Given the description of an element on the screen output the (x, y) to click on. 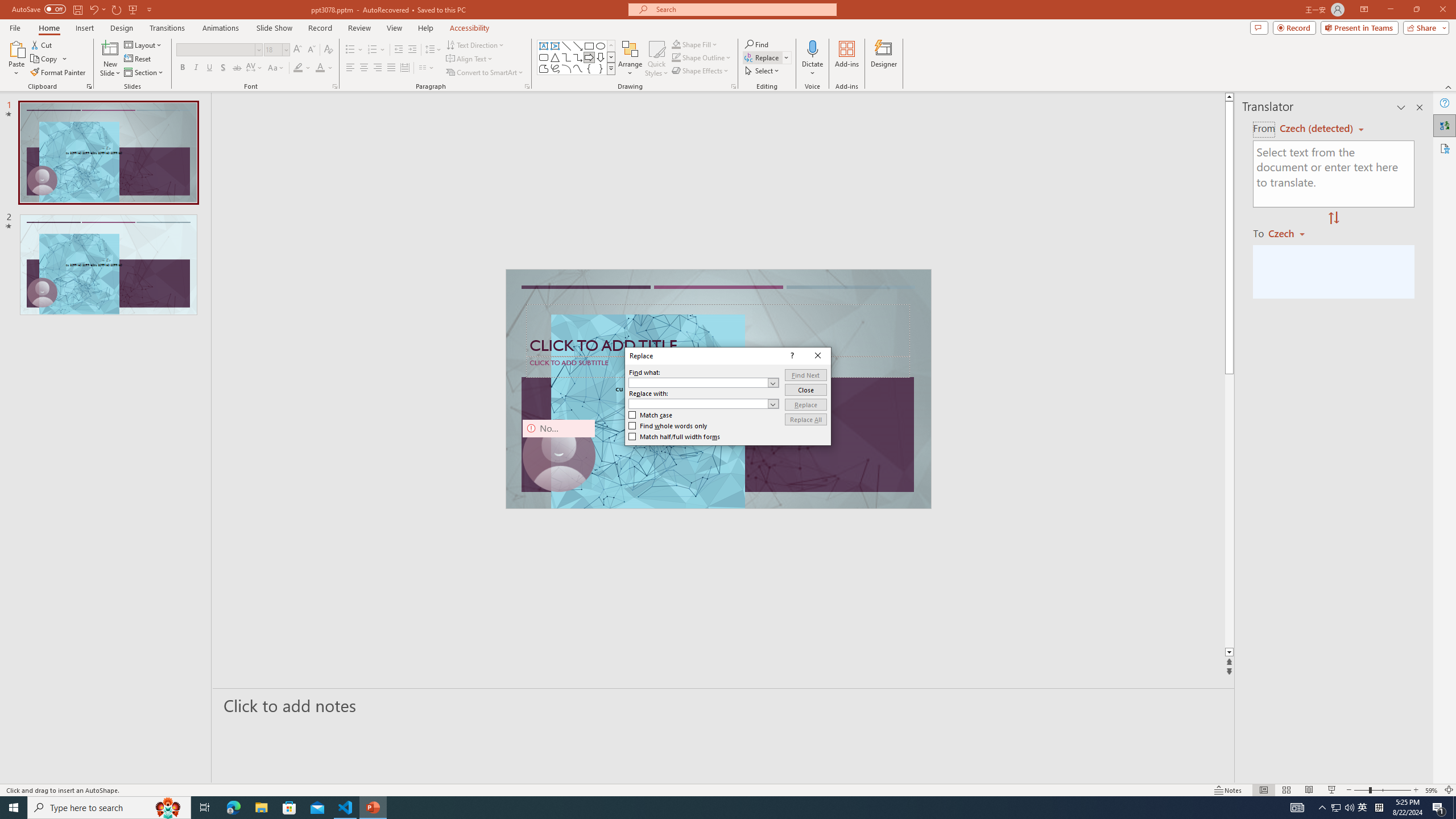
Find what (703, 382)
